Given the description of an element on the screen output the (x, y) to click on. 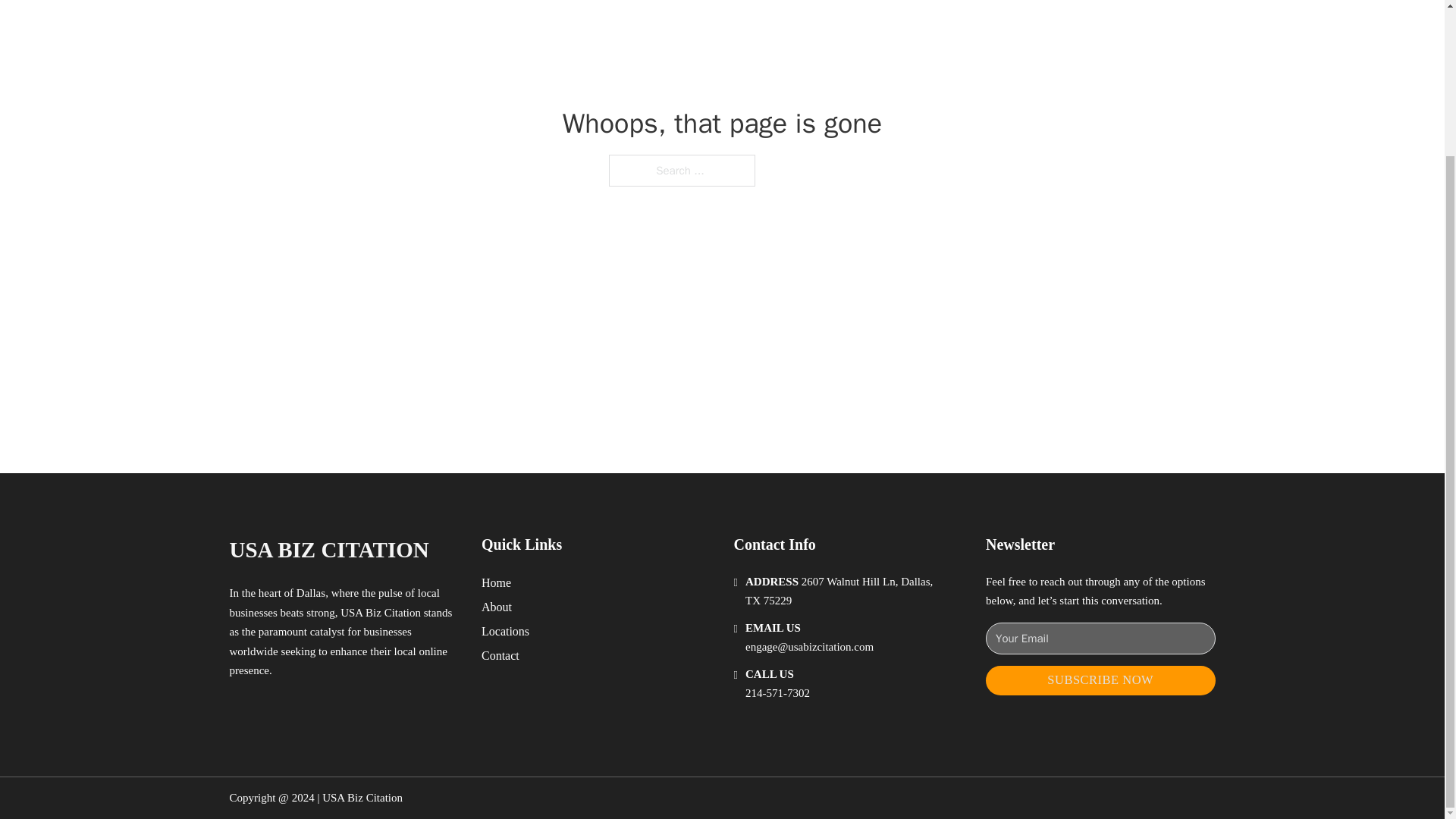
Home (496, 582)
USA BIZ CITATION (328, 549)
About (496, 607)
SUBSCRIBE NOW (1100, 680)
Locations (505, 630)
214-571-7302 (777, 693)
Contact (500, 655)
